Given the description of an element on the screen output the (x, y) to click on. 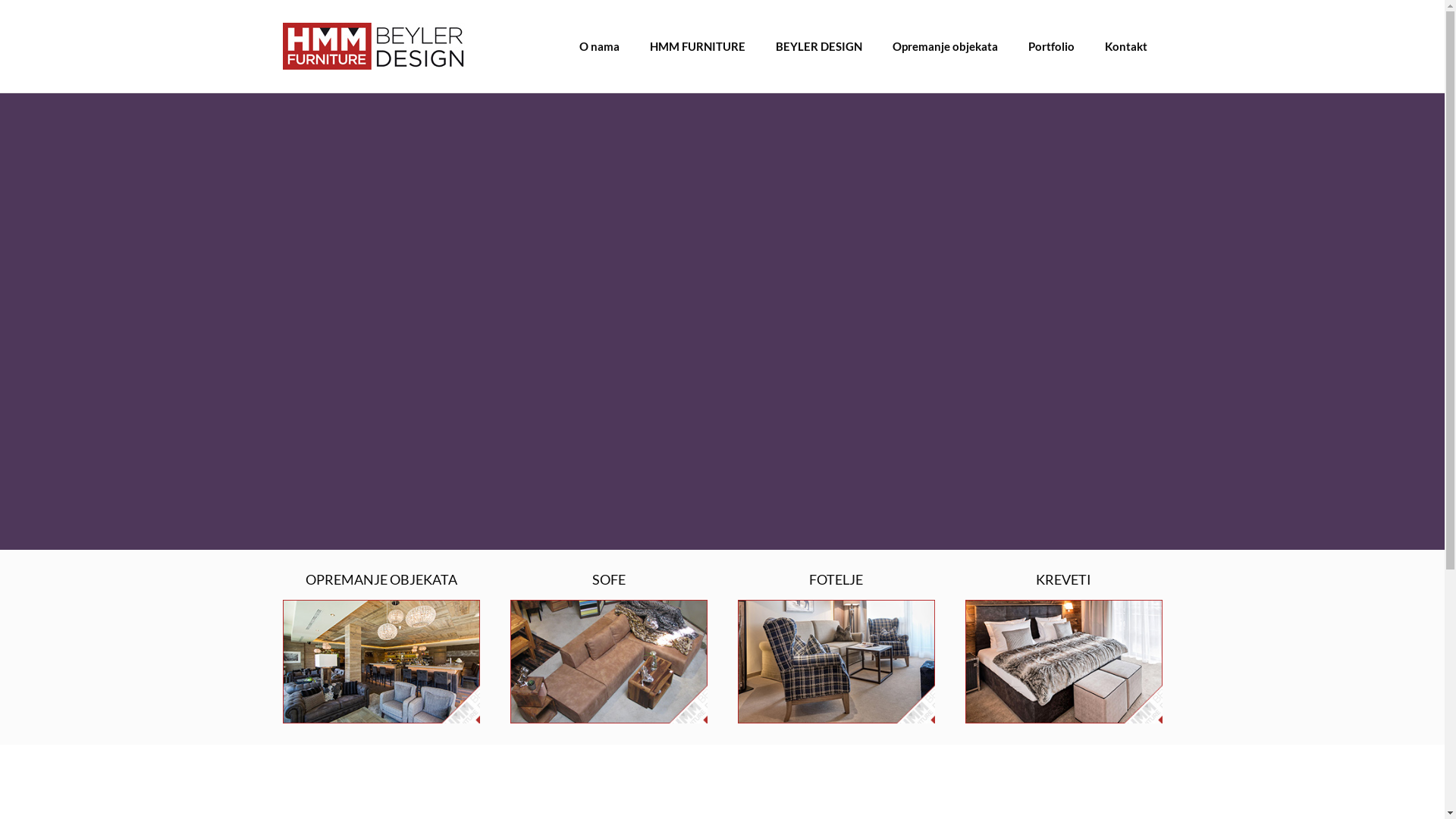
O nama Element type: text (599, 46)
HMM FURNITURE Element type: text (696, 46)
BEYLER DESIGN Element type: text (817, 46)
Bosnian Element type: text (1024, 685)
Kontakt Element type: text (1124, 46)
Portfolio Element type: text (1051, 46)
Opremanje objekata Element type: text (944, 46)
info@hmm.ba Element type: text (796, 726)
